Given the description of an element on the screen output the (x, y) to click on. 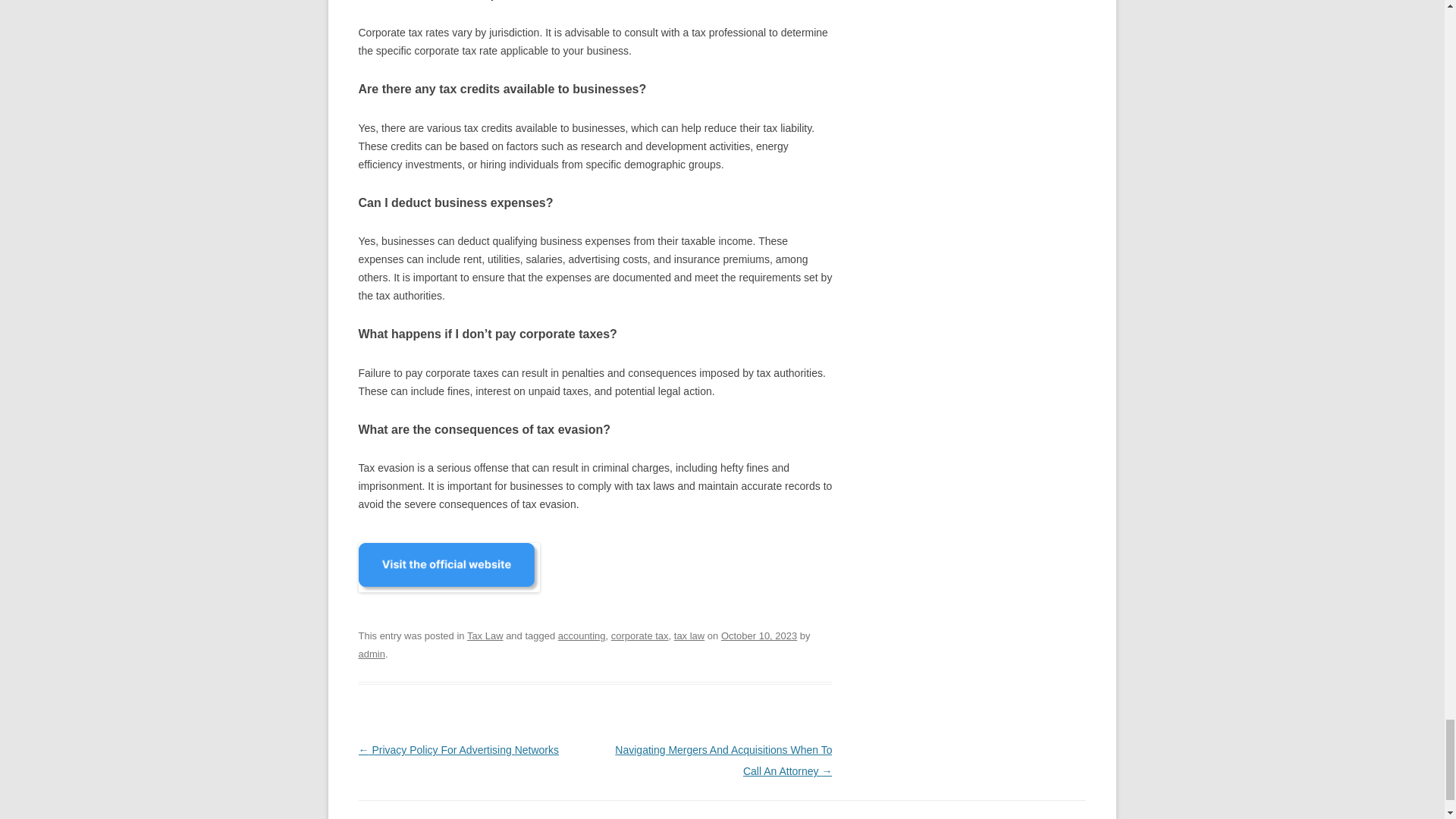
corporate tax (639, 635)
3:08 pm (758, 635)
October 10, 2023 (758, 635)
accounting (581, 635)
Check out the Corporate Tax here. (448, 567)
Tax Law (485, 635)
admin (371, 654)
tax law (689, 635)
Check out the Corporate Tax here. (448, 599)
View all posts by admin (371, 654)
